Given the description of an element on the screen output the (x, y) to click on. 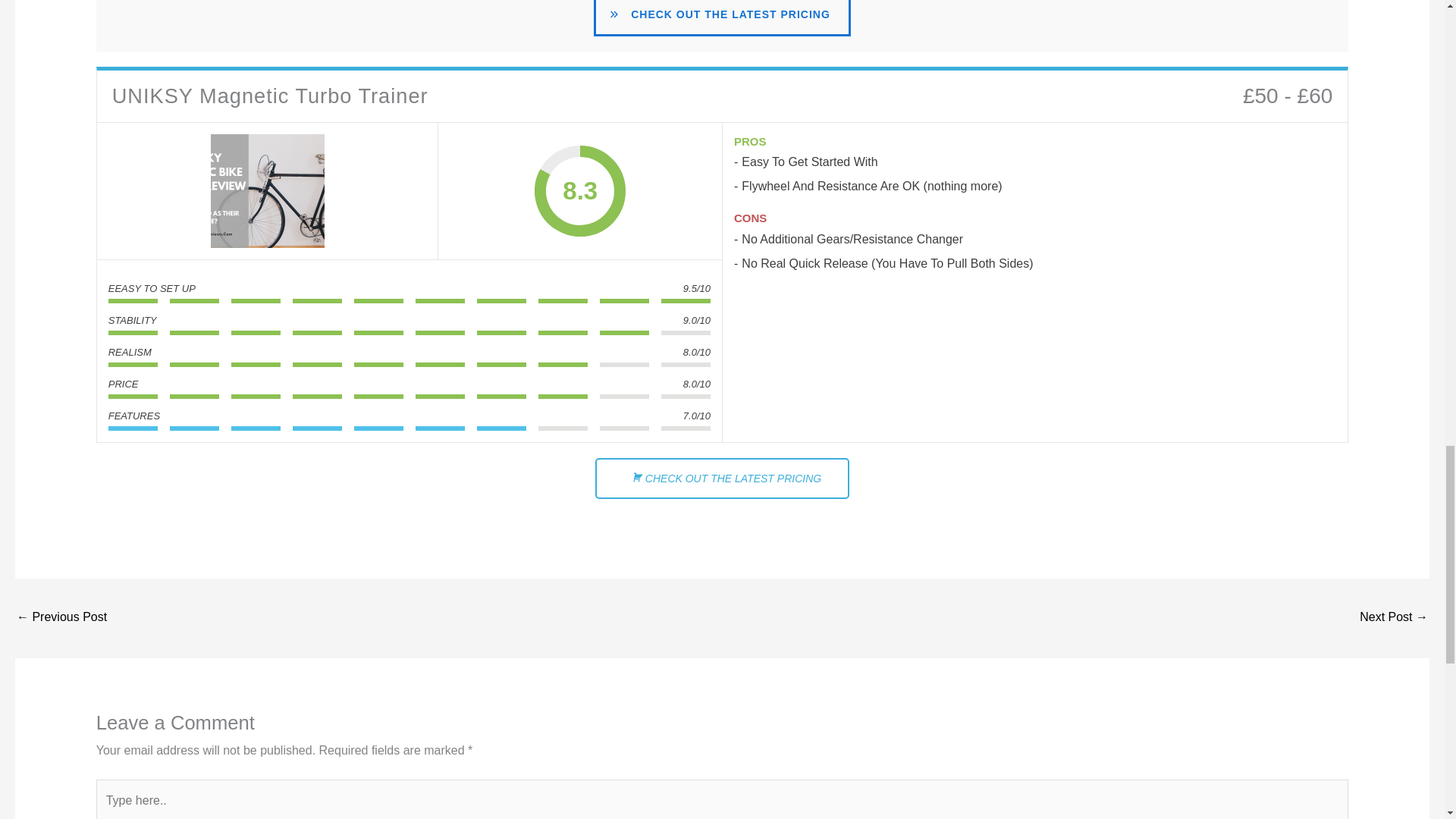
CHECK OUT THE LATEST PRICING (722, 18)
Fluid Bike Trainer (61, 618)
UNIKSY Magnetic Turbo Trainer (267, 191)
CHECK OUT THE LATEST PRICING (721, 477)
Magene T100 Turbo Trainer Review (1393, 618)
